Given the description of an element on the screen output the (x, y) to click on. 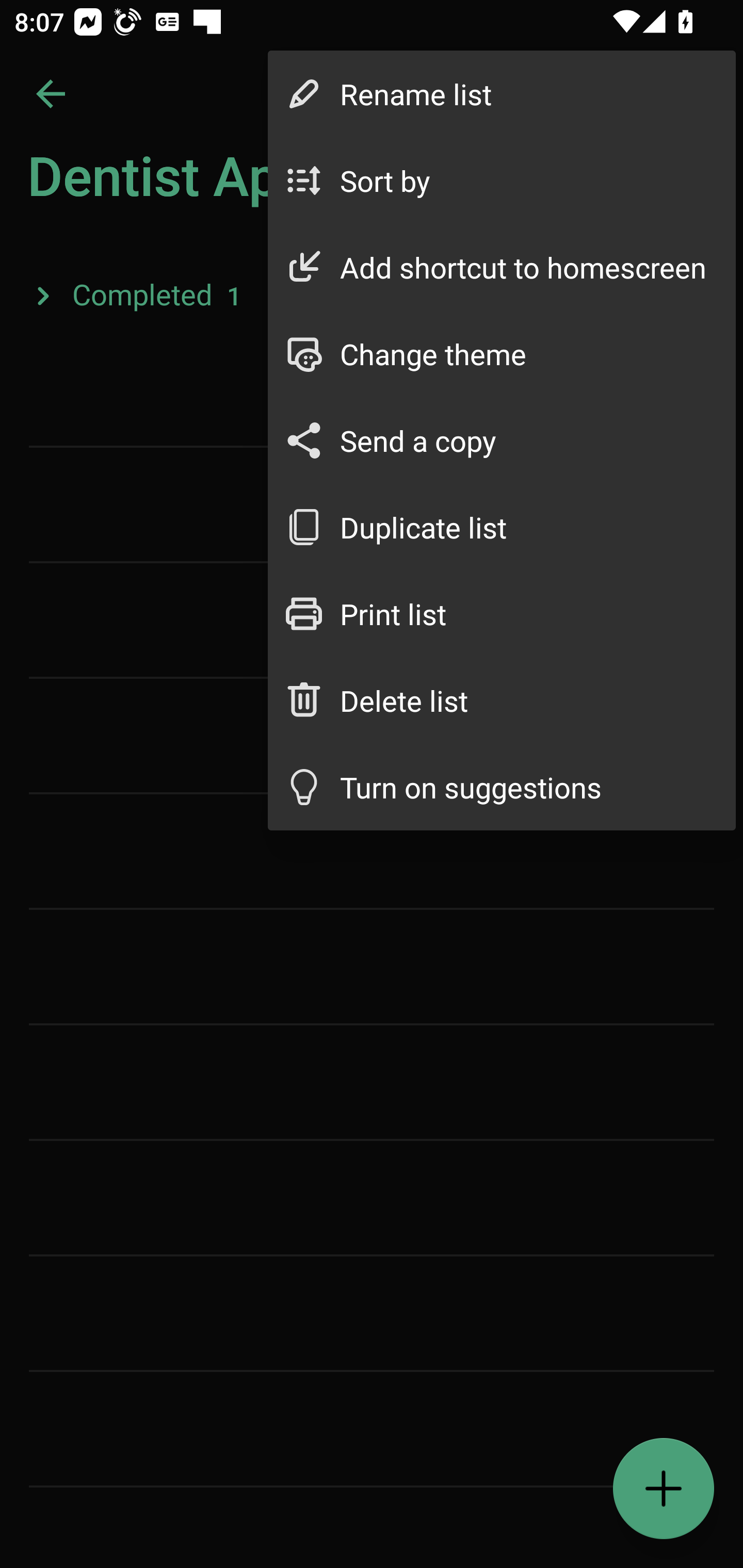
Rename list1 in 9 Rename list (501, 93)
Sort by2 in 9 Sort by (501, 180)
Change theme4 in 9 Change theme (501, 353)
Send a copy5 in 9 Send a copy (501, 440)
Duplicate list6 in 9 Duplicate list (501, 527)
Print list7 in 9 Print list (501, 613)
Delete list8 in 9 Delete list (501, 699)
Turn on suggestions9 in 9 Turn on suggestions (501, 787)
